Given the description of an element on the screen output the (x, y) to click on. 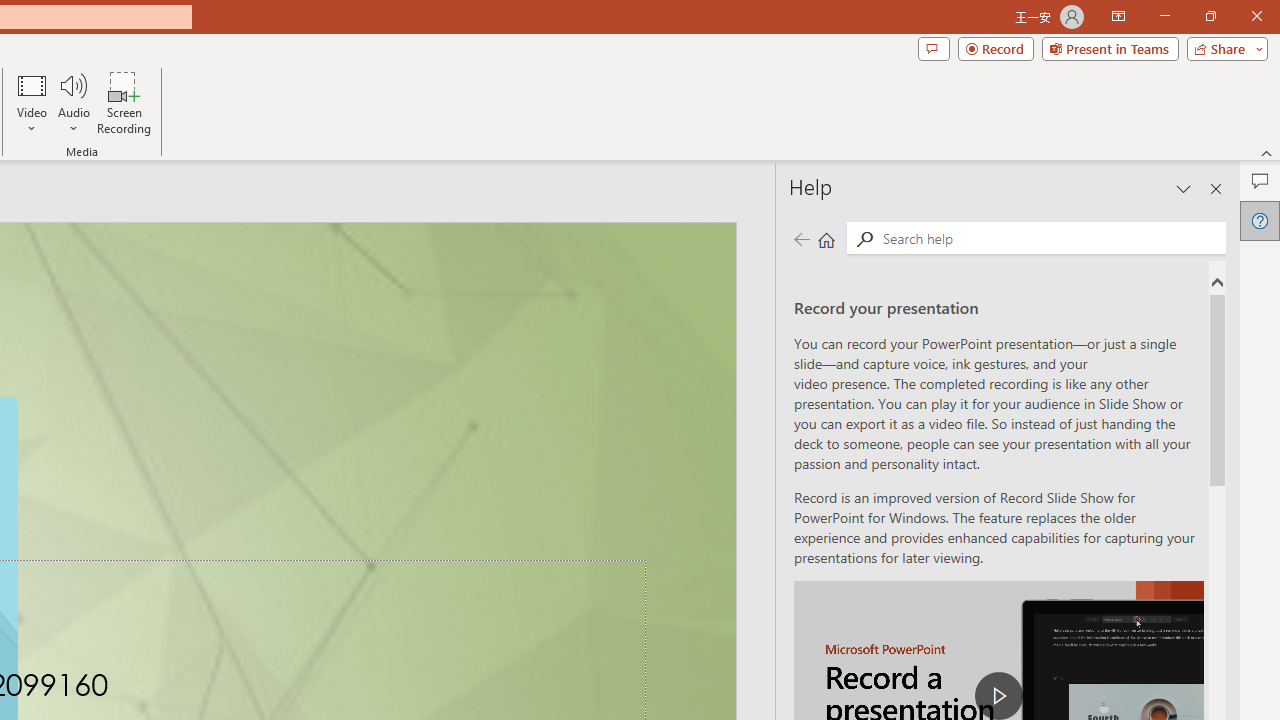
Screen Recording... (123, 102)
Previous page (801, 238)
